Given the description of an element on the screen output the (x, y) to click on. 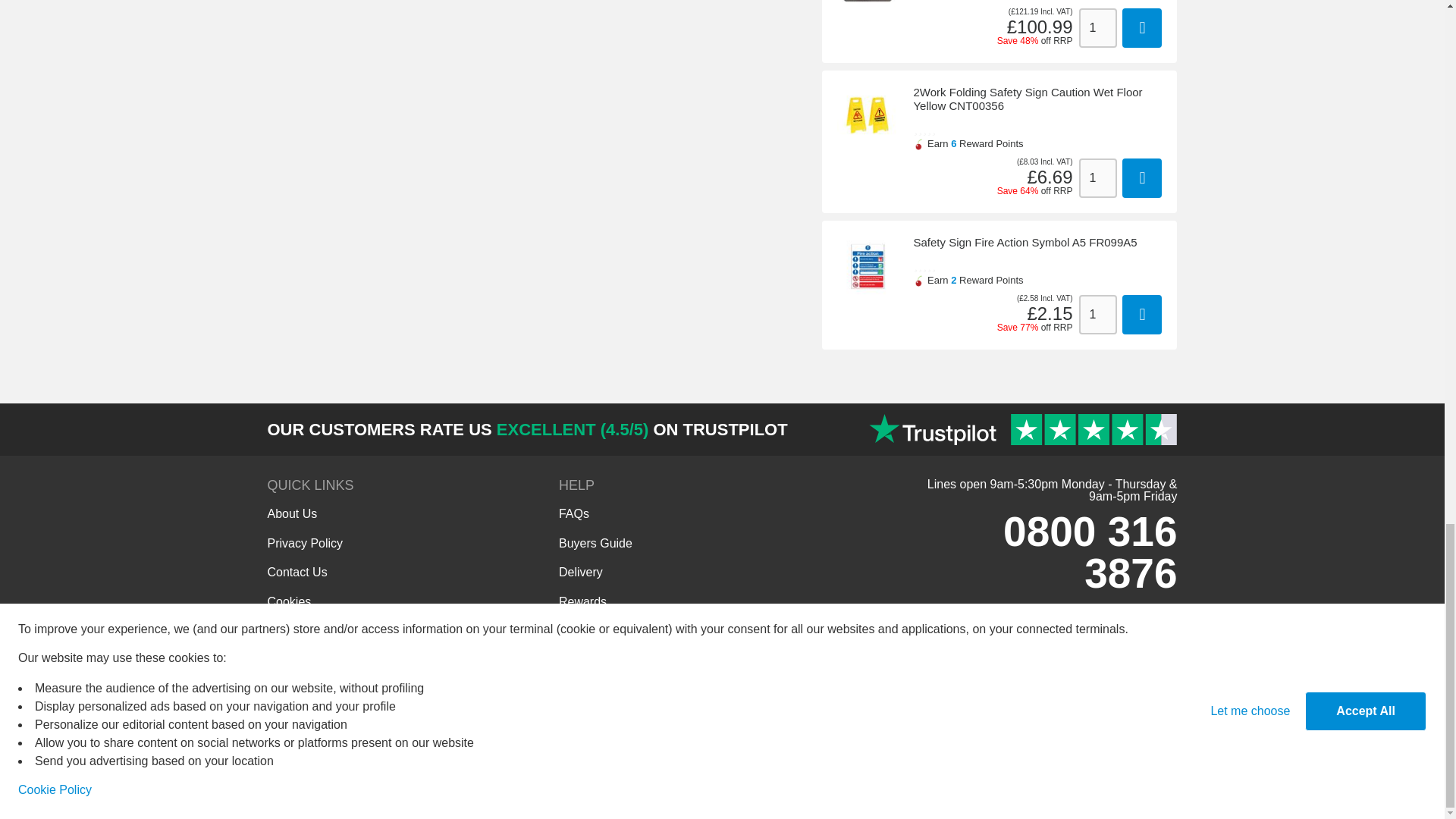
1 (1097, 314)
1 (1097, 27)
1 (1097, 178)
